Given the description of an element on the screen output the (x, y) to click on. 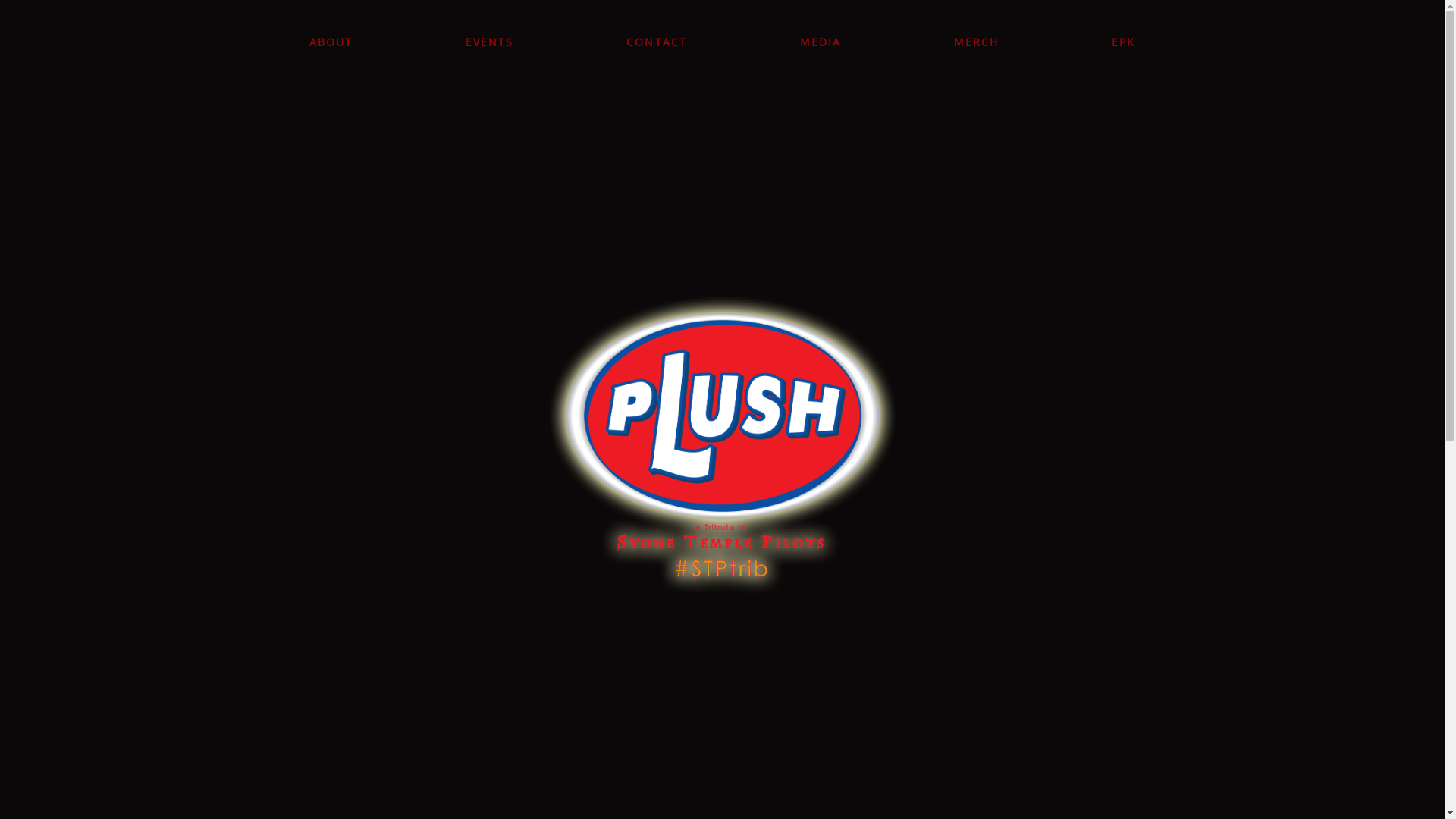
EPK Element type: text (1119, 42)
EVENTS Element type: text (489, 42)
MEDIA Element type: text (820, 42)
CONTACT Element type: text (656, 42)
MERCH Element type: text (976, 42)
ABOUT Element type: text (334, 42)
